Given the description of an element on the screen output the (x, y) to click on. 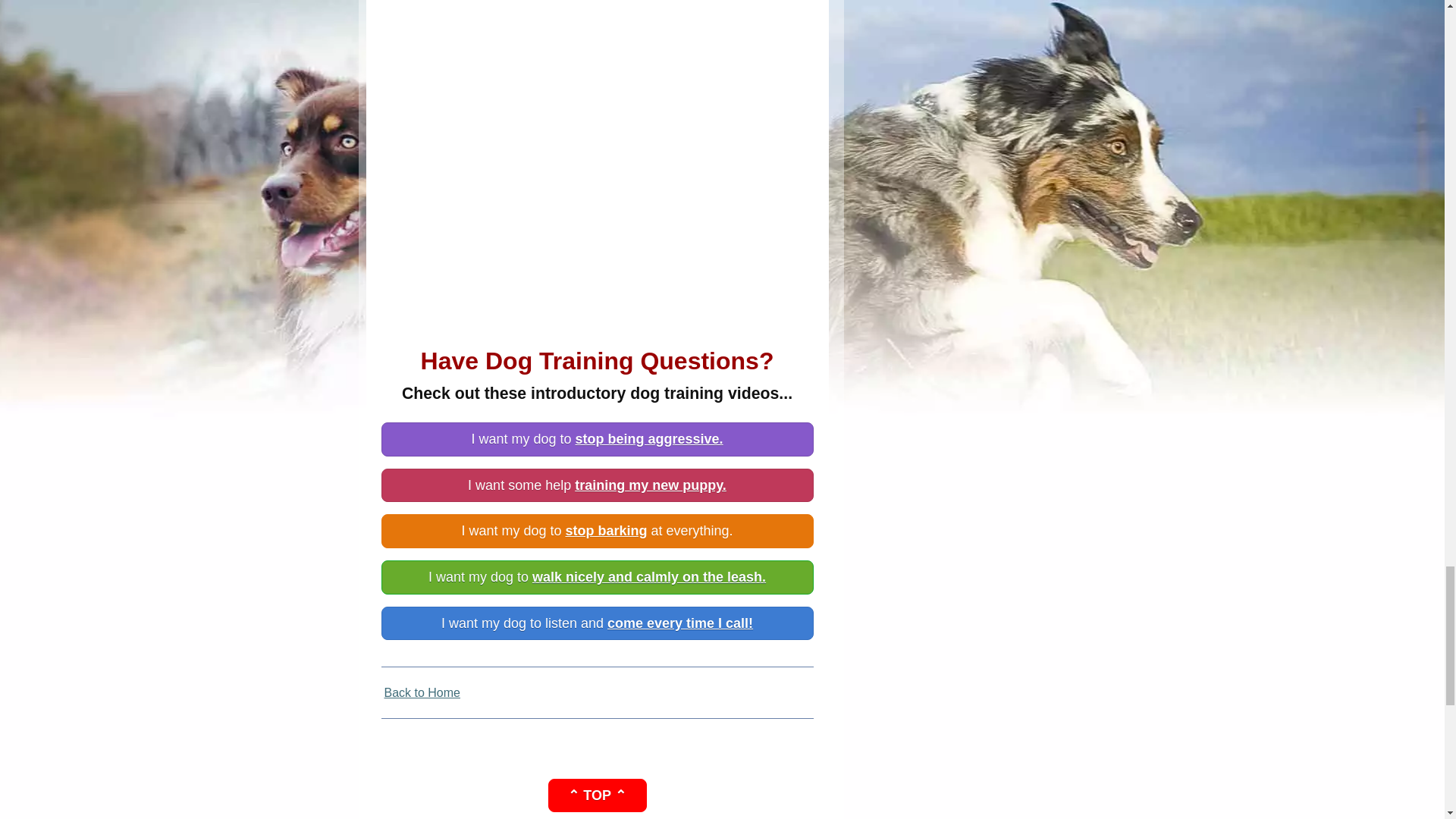
Back to Top (596, 795)
